Given the description of an element on the screen output the (x, y) to click on. 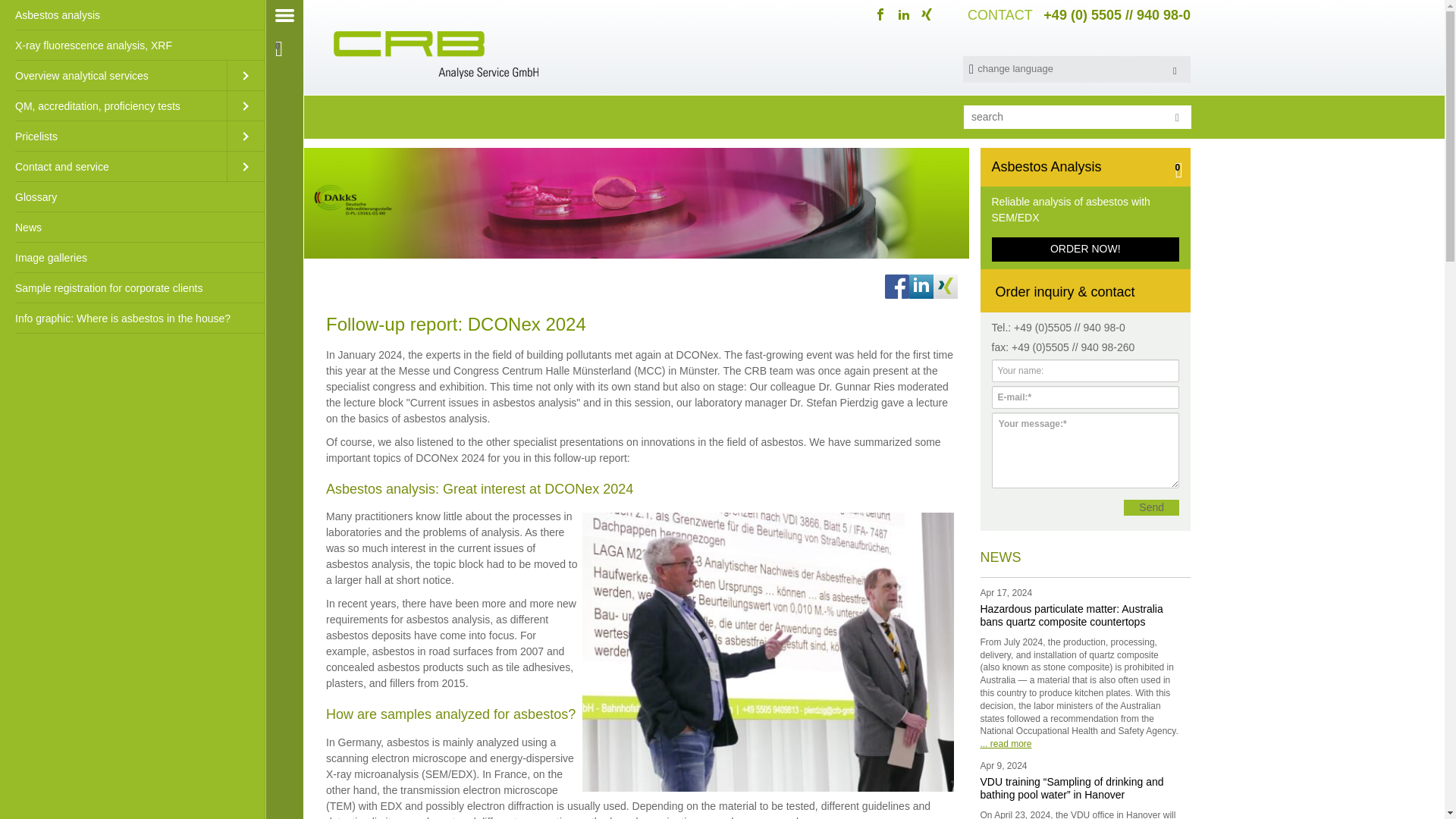
Overview analytical services (113, 75)
Asbestos analysis (132, 15)
QM, accreditation, proficiency tests (113, 105)
Pricelists (113, 136)
X-ray fluorescence analysis, XRF (132, 45)
QM, accreditation, proficiency tests (113, 105)
Overview analytical services (113, 75)
Contact and service (113, 166)
